Given the description of an element on the screen output the (x, y) to click on. 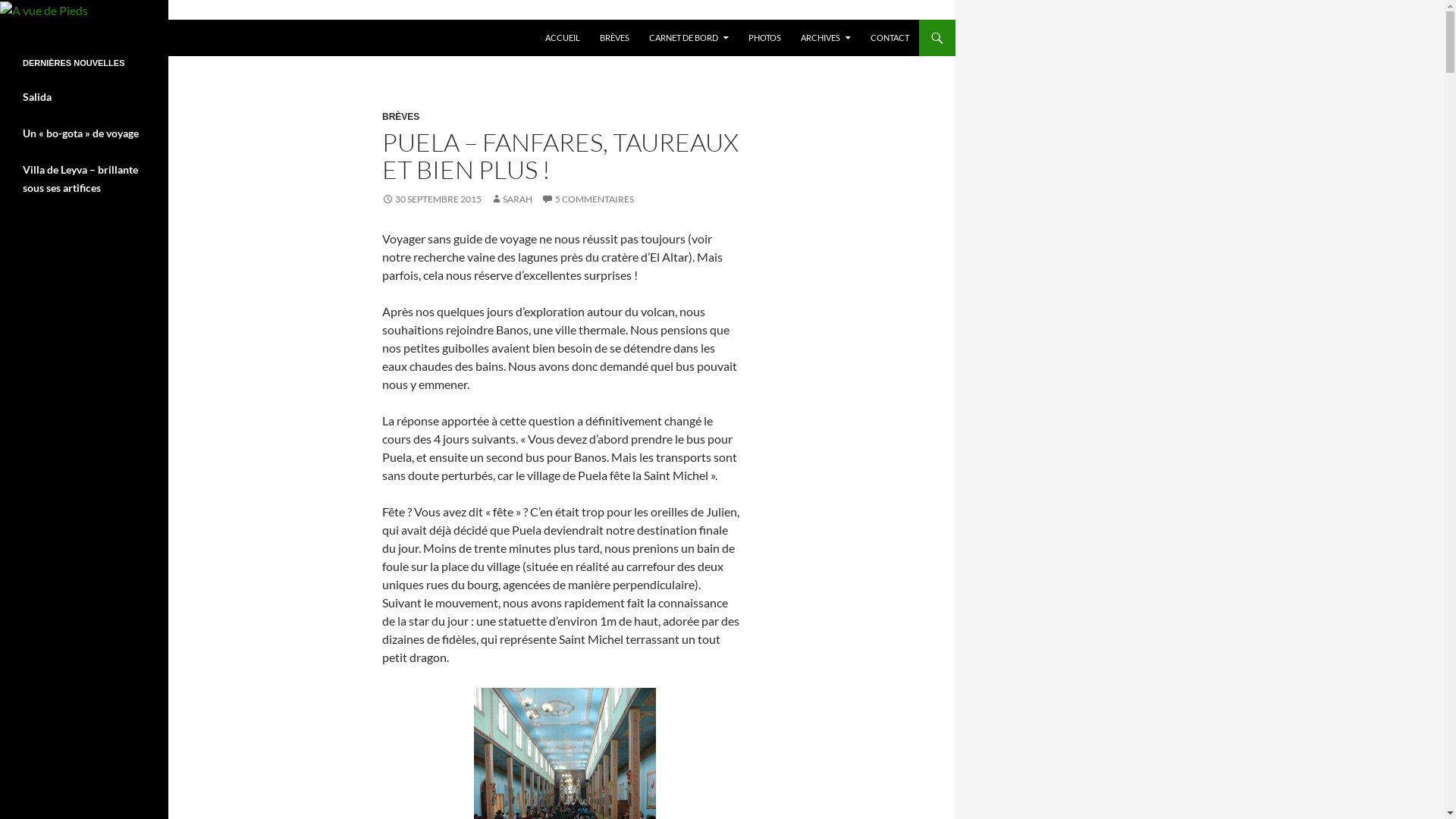
CARNET DE BORD Element type: text (688, 37)
Recherche Element type: text (3, 19)
5 COMMENTAIRES Element type: text (587, 198)
ACCUEIL Element type: text (562, 37)
PHOTOS Element type: text (764, 37)
30 SEPTEMBRE 2015 Element type: text (431, 198)
ALLER AU CONTENU Element type: text (545, 19)
Salida Element type: text (36, 96)
SARAH Element type: text (511, 198)
CONTACT Element type: text (889, 37)
A vue de Pieds Element type: text (66, 37)
ARCHIVES Element type: text (825, 37)
